Given the description of an element on the screen output the (x, y) to click on. 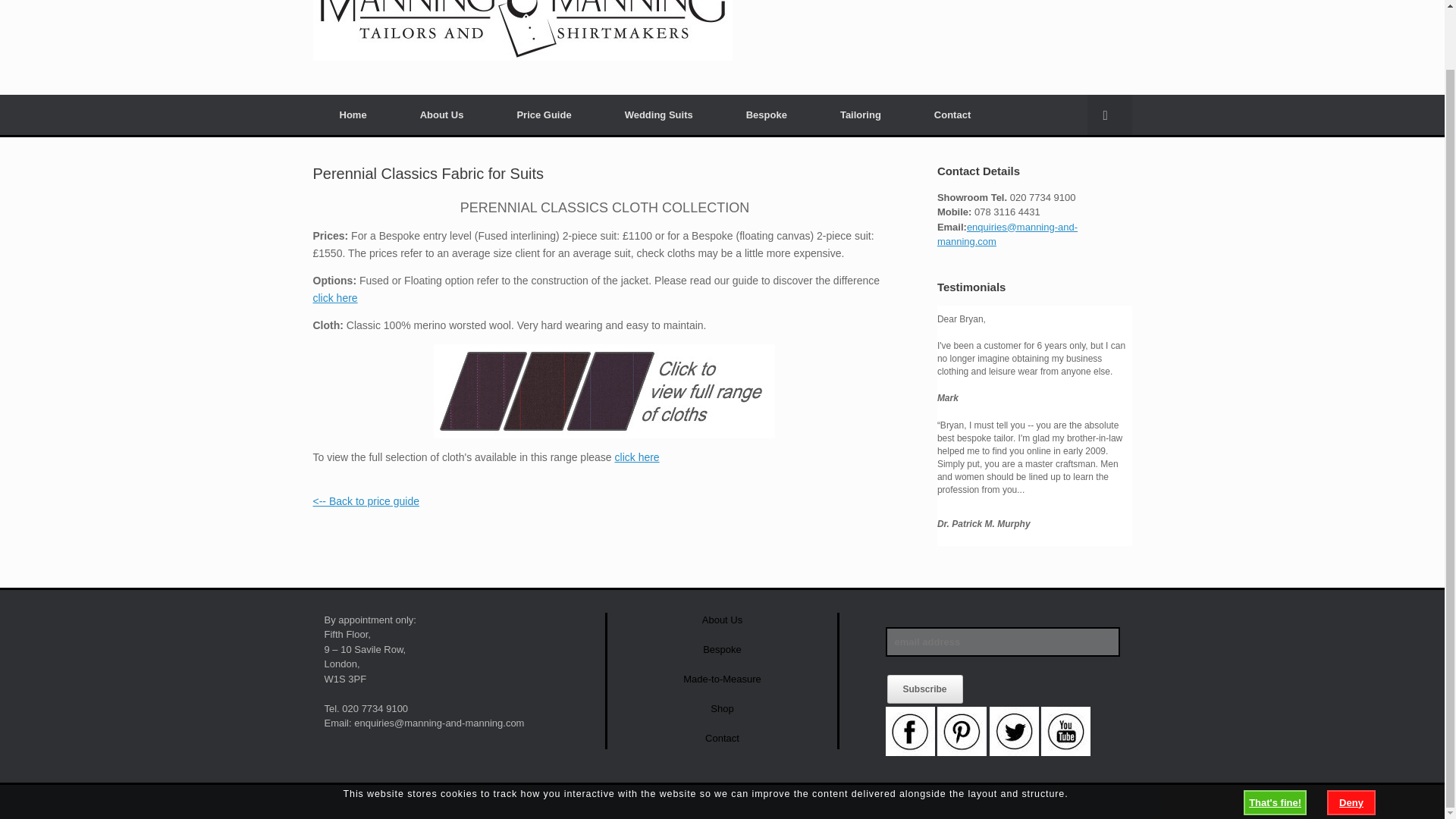
Bespoke (722, 649)
Manning and Manning (522, 30)
Shop (721, 708)
Contact (721, 737)
Made-to-Measure (721, 678)
Deny (1350, 738)
Subscribe (924, 688)
About Us (721, 619)
Perennial Classics Collection (636, 457)
Price Guide (542, 115)
